Given the description of an element on the screen output the (x, y) to click on. 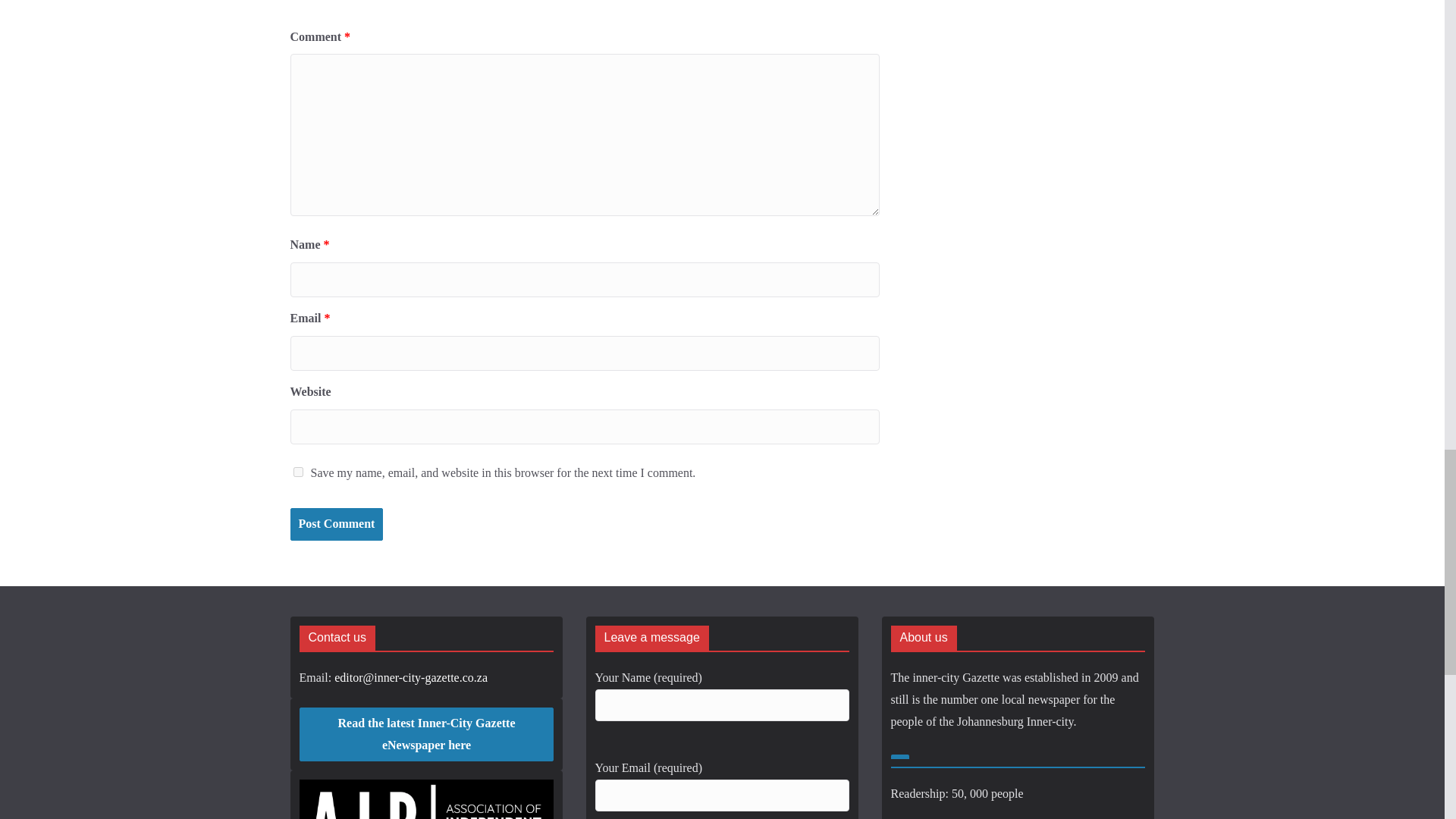
yes (297, 471)
Post Comment (335, 523)
Post Comment (335, 523)
